Given the description of an element on the screen output the (x, y) to click on. 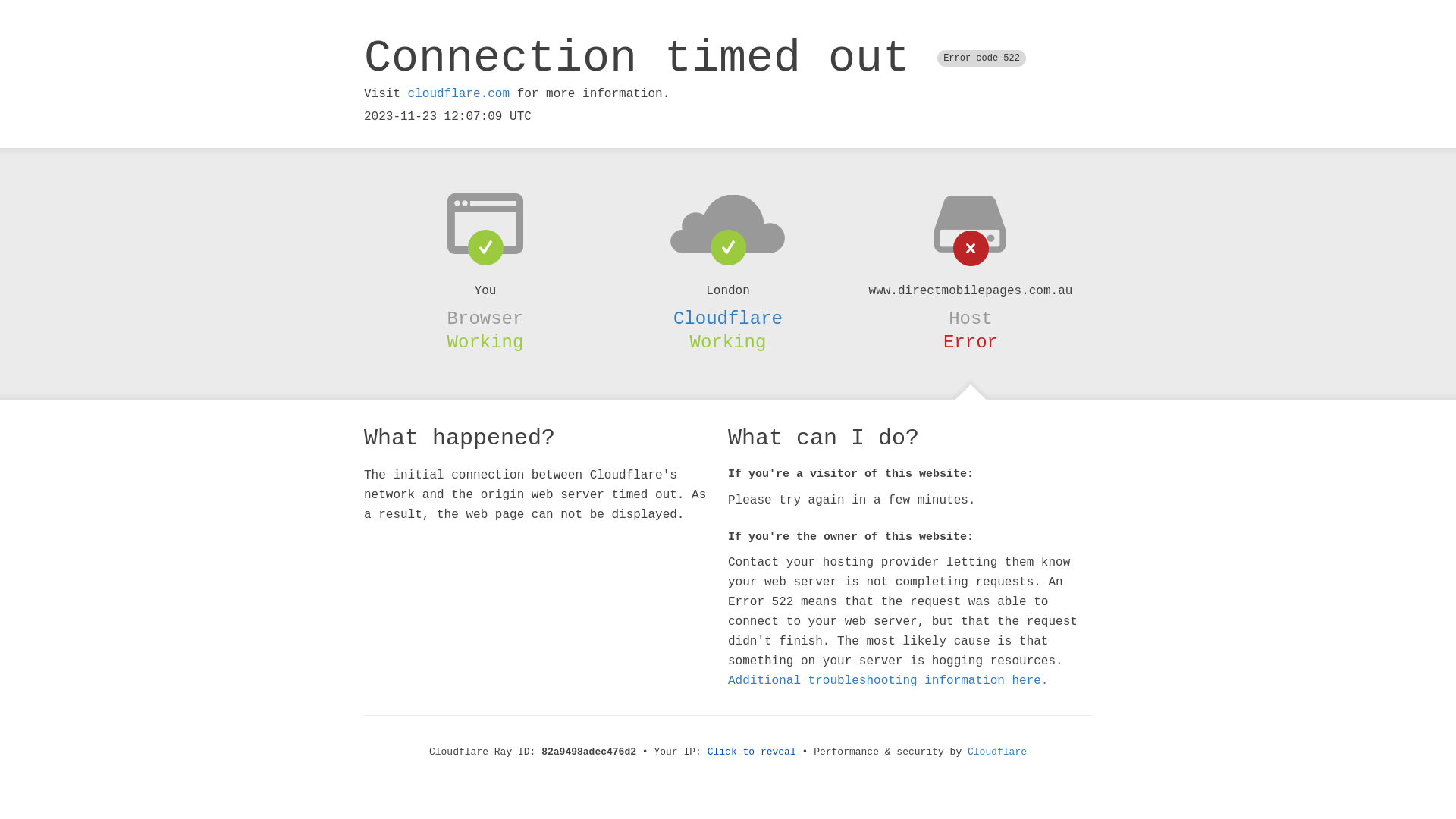
Cloudflare Element type: text (996, 751)
cloudflare.com Element type: text (458, 93)
Additional troubleshooting information here. Element type: text (888, 680)
Click to reveal Element type: text (751, 751)
Cloudflare Element type: text (727, 318)
